Given the description of an element on the screen output the (x, y) to click on. 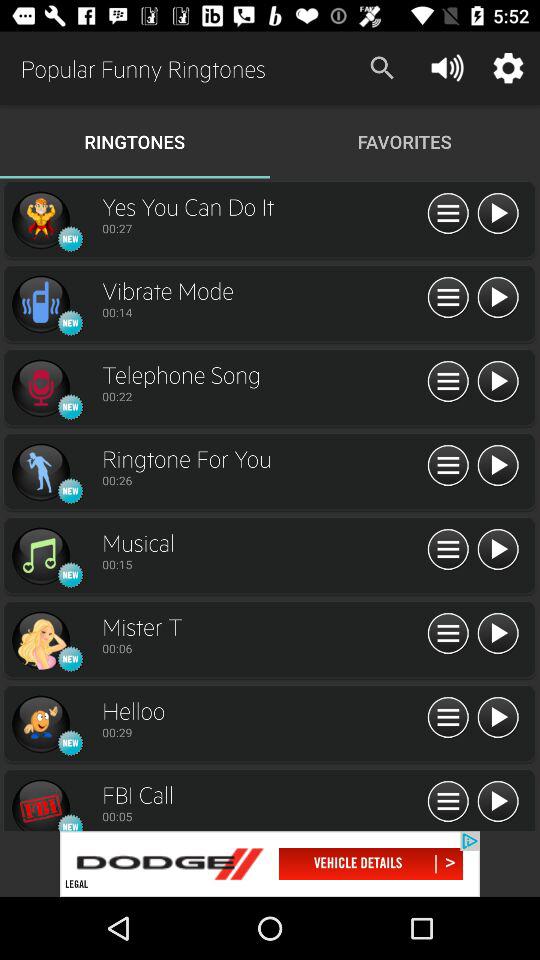
music play option (40, 556)
